Given the description of an element on the screen output the (x, y) to click on. 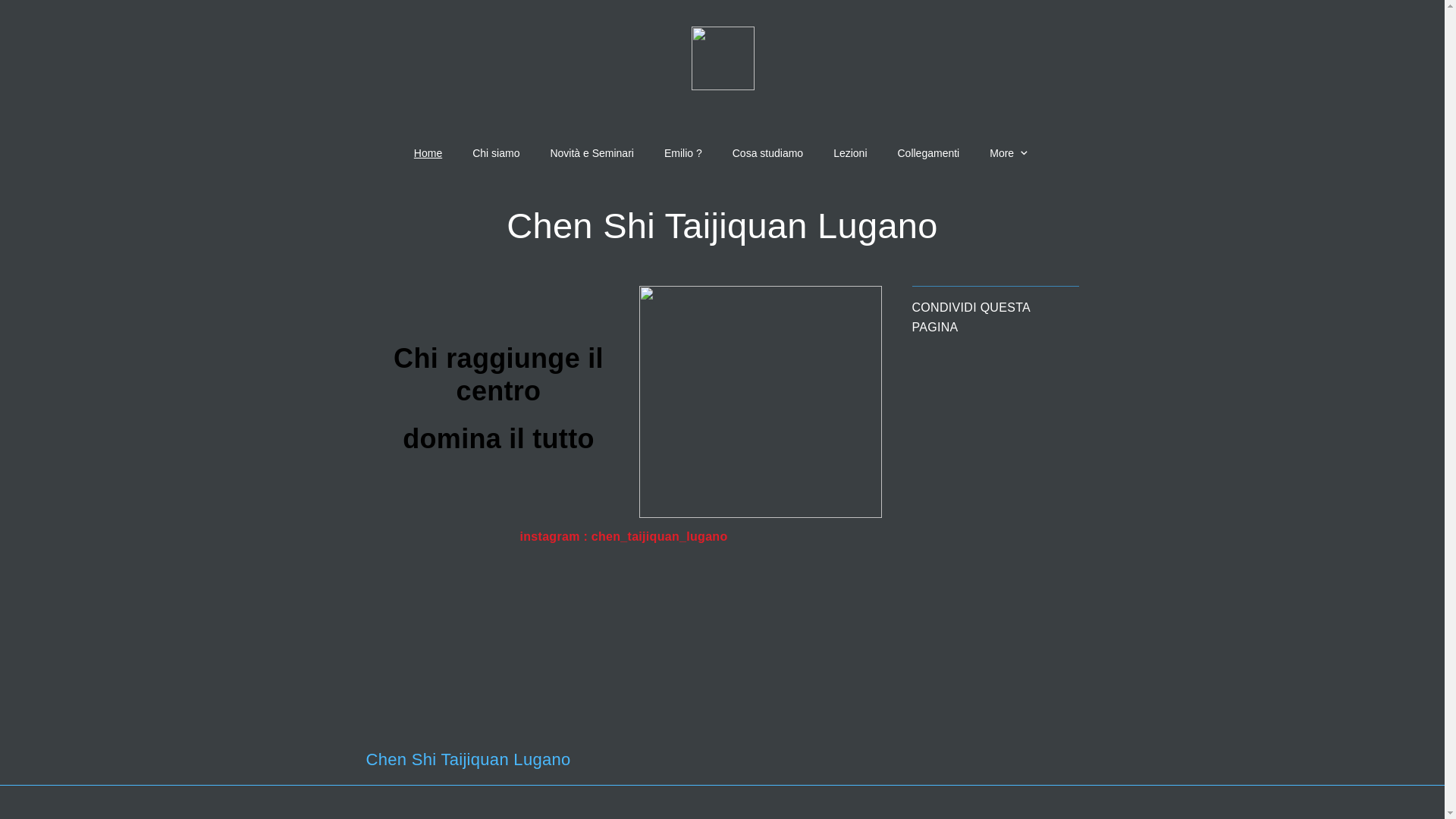
Home Element type: text (427, 153)
Lezioni Element type: text (849, 153)
Chi siamo Element type: text (495, 153)
Chen Shi Taijiquan Lugano Element type: text (722, 225)
Collegamenti Element type: text (928, 153)
More Element type: text (1009, 153)
Cosa studiamo Element type: text (767, 153)
Emilio ? Element type: text (683, 153)
